Given the description of an element on the screen output the (x, y) to click on. 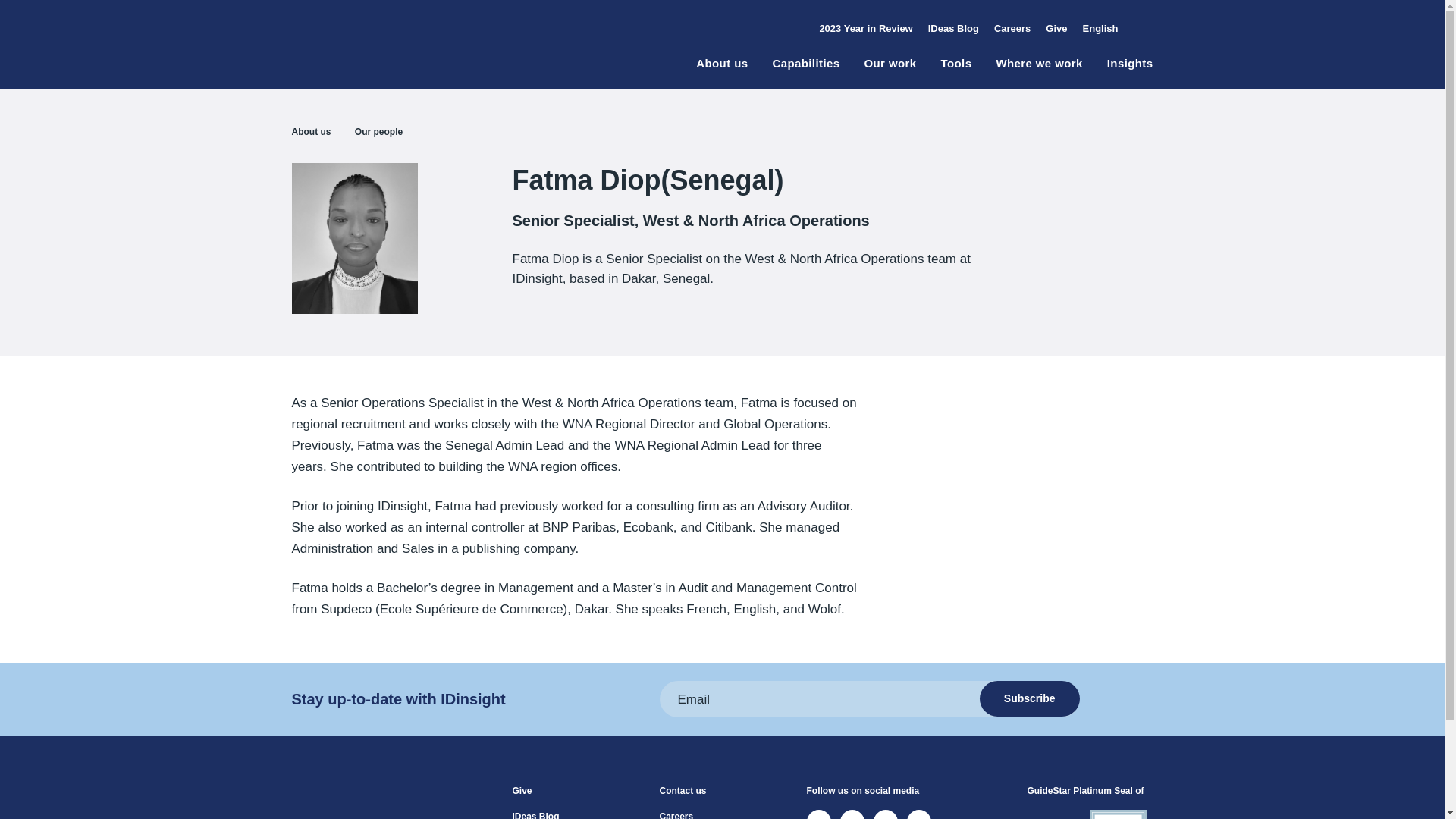
Twitter (818, 814)
Capabilities (805, 72)
Our work (889, 72)
Go to homepage (352, 809)
About us (721, 72)
Instagram (919, 814)
Subscribe (1029, 698)
LinkedIn (852, 814)
Facebook (885, 814)
